Given the description of an element on the screen output the (x, y) to click on. 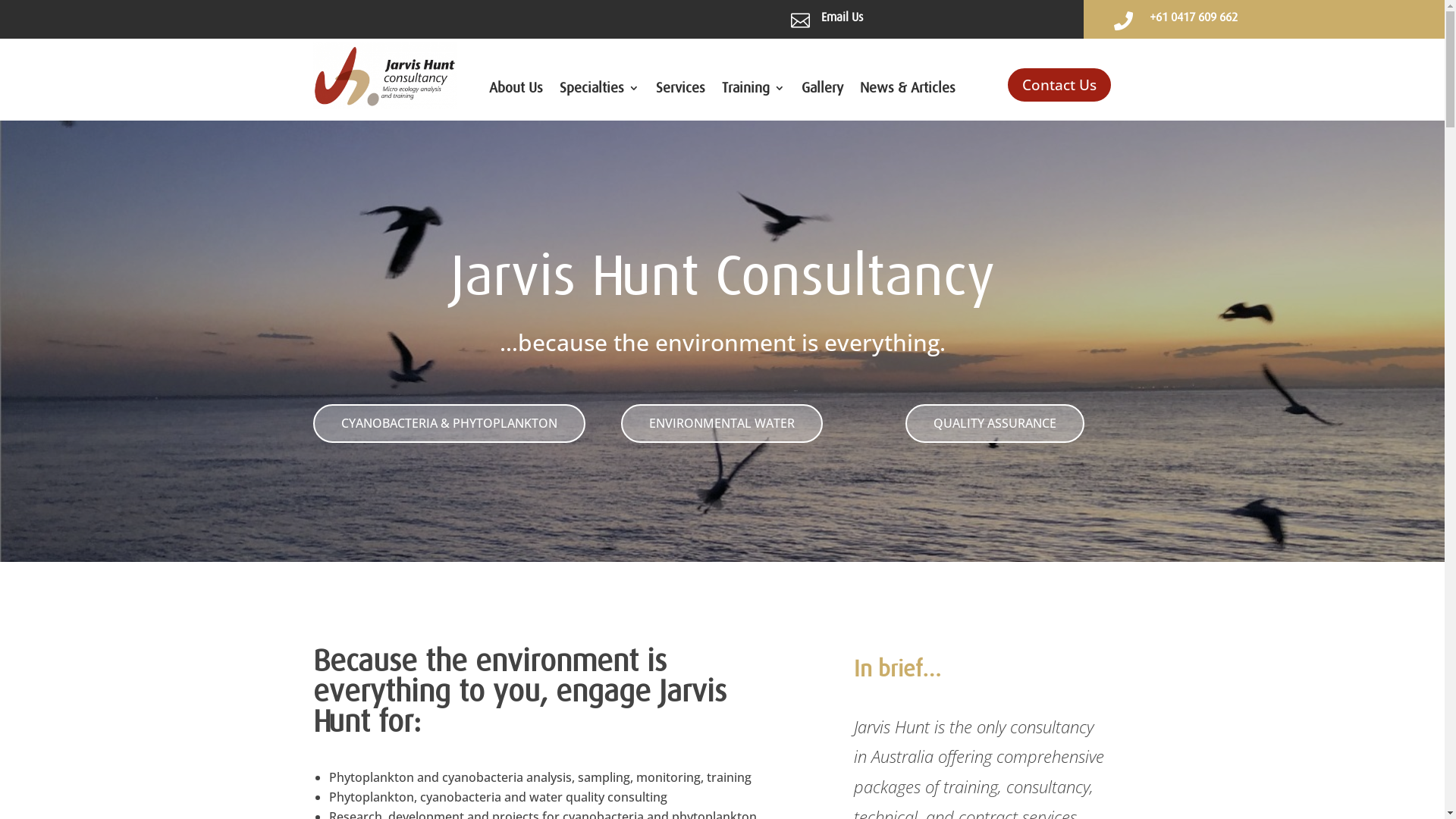
Services Element type: text (680, 90)
CYANOBACTERIA & PHYTOPLANKTON Element type: text (449, 423)
Email Us Element type: text (841, 17)
Specialties Element type: text (599, 90)
Training Element type: text (752, 90)
JHC Logo Image Zooom Element type: hover (384, 75)
+61 0417 609 662 Element type: text (1193, 17)
Gallery Element type: text (822, 90)
Contact Us Element type: text (1059, 84)
QUALITY ASSURANCE Element type: text (994, 423)
News & Articles Element type: text (907, 90)
About Us Element type: text (515, 90)
ENVIRONMENTAL WATER Element type: text (721, 423)
